Given the description of an element on the screen output the (x, y) to click on. 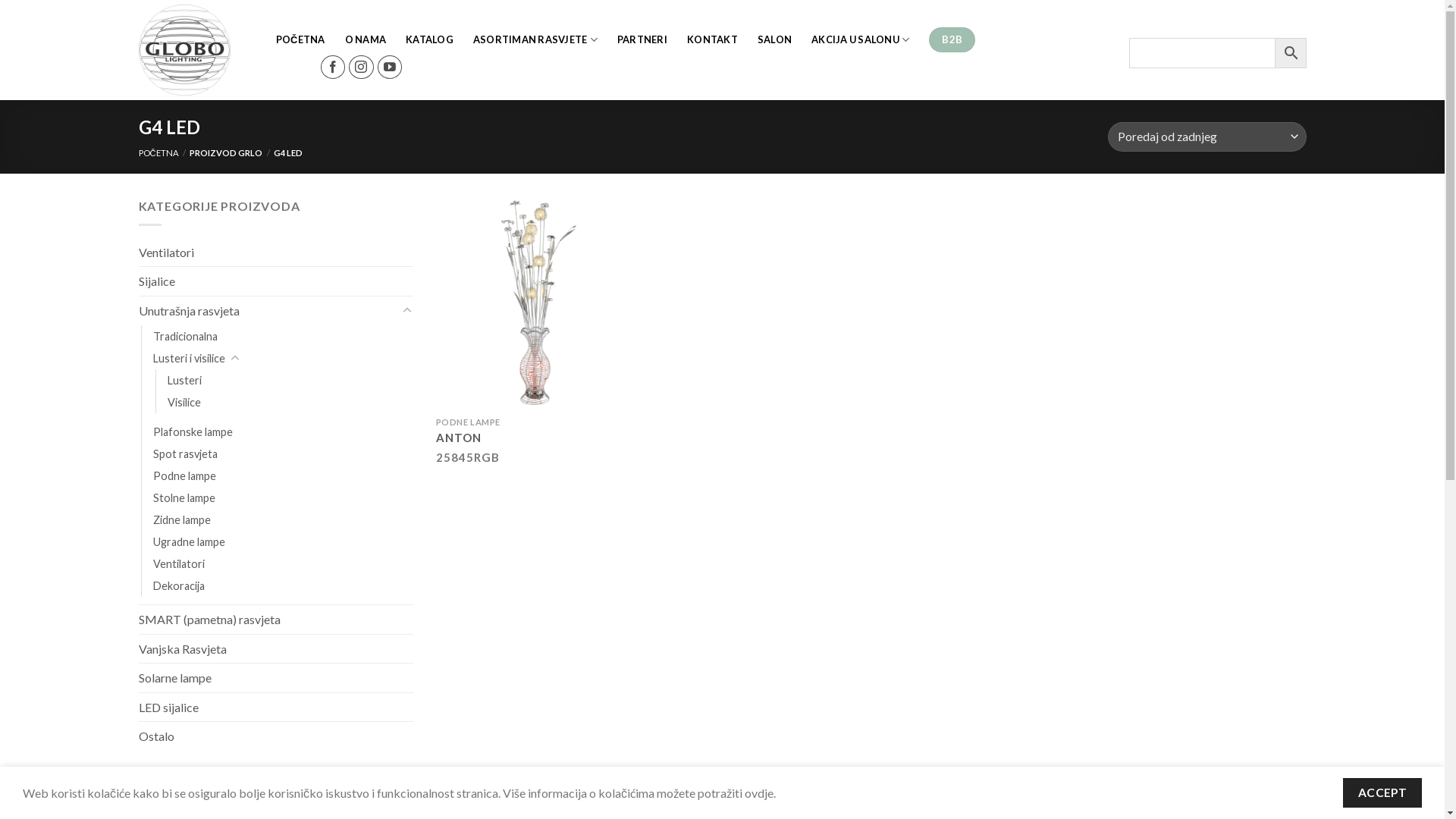
Ostalo Element type: text (275, 735)
ANTON Element type: text (458, 437)
ASORTIMAN RASVJETE Element type: text (535, 39)
Zidne lampe Element type: text (181, 519)
Solarne lampe Element type: text (275, 677)
KONTAKT Element type: text (712, 39)
O NAMA Element type: text (365, 39)
KATALOG Element type: text (429, 39)
SALON Element type: text (774, 39)
Ventilatori Element type: text (275, 252)
B2B Element type: text (951, 40)
LED sijalice Element type: text (275, 707)
Stolne lampe Element type: text (184, 497)
Plafonske lampe Element type: text (192, 431)
Dekoracija Element type: text (178, 585)
Podne lampe Element type: text (184, 475)
SMART (pametna) rasvjeta Element type: text (275, 619)
PARTNERI Element type: text (642, 39)
AKCIJA U SALONU Element type: text (860, 39)
Sijalice Element type: text (275, 280)
Ugradne lampe Element type: text (189, 541)
Lusteri i visilice Element type: text (189, 358)
Tradicionalna Element type: text (185, 336)
Ventilatori Element type: text (178, 563)
ACCEPT Element type: text (1382, 792)
Spot rasvjeta Element type: text (185, 453)
Visilice Element type: text (183, 402)
Lusteri Element type: text (183, 380)
Vanjska Rasvjeta Element type: text (275, 648)
